Given the description of an element on the screen output the (x, y) to click on. 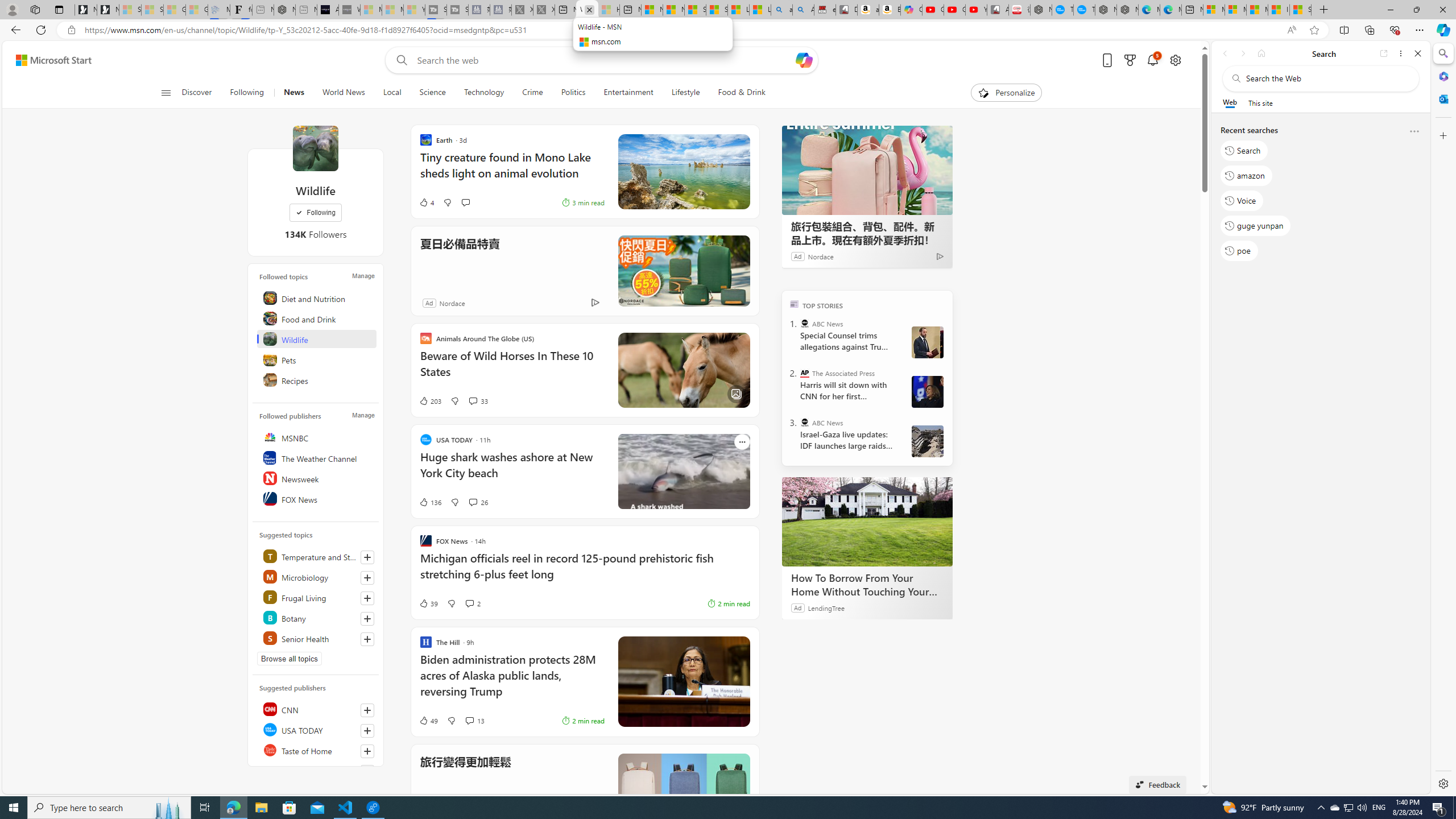
World News (343, 92)
I Gained 20 Pounds of Muscle in 30 Days! | Watch (1278, 9)
Taste of Home (317, 750)
Follow this topic (367, 638)
Settings (1442, 783)
Beware of Wild Horses In These 10 States (511, 369)
MSNBC (317, 437)
Lifestyle (685, 92)
Home (1261, 53)
